Given the description of an element on the screen output the (x, y) to click on. 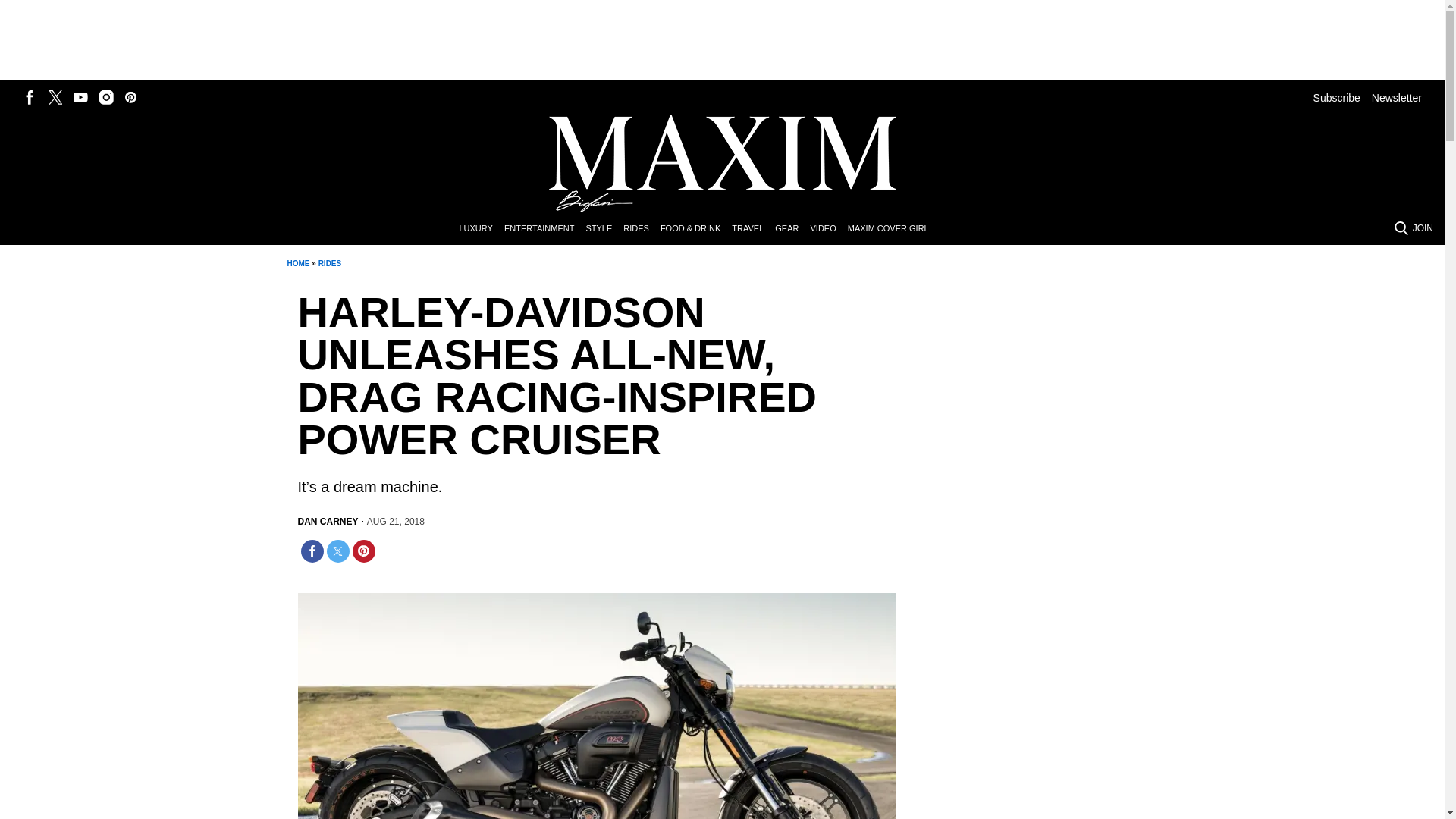
Share on Twitter (337, 550)
TRAVEL (753, 228)
RIDES (330, 263)
GEAR (791, 228)
HOME (297, 263)
ENTERTAINMENT (544, 228)
STYLE (604, 228)
Follow us on Twitter (55, 97)
VIDEO (828, 228)
RIDES (642, 228)
MAXIM COVER GIRL (893, 228)
Newsletter (1396, 97)
Follow us on Instagram (106, 97)
JOIN (1422, 228)
Follow us on Youtube (80, 97)
